Given the description of an element on the screen output the (x, y) to click on. 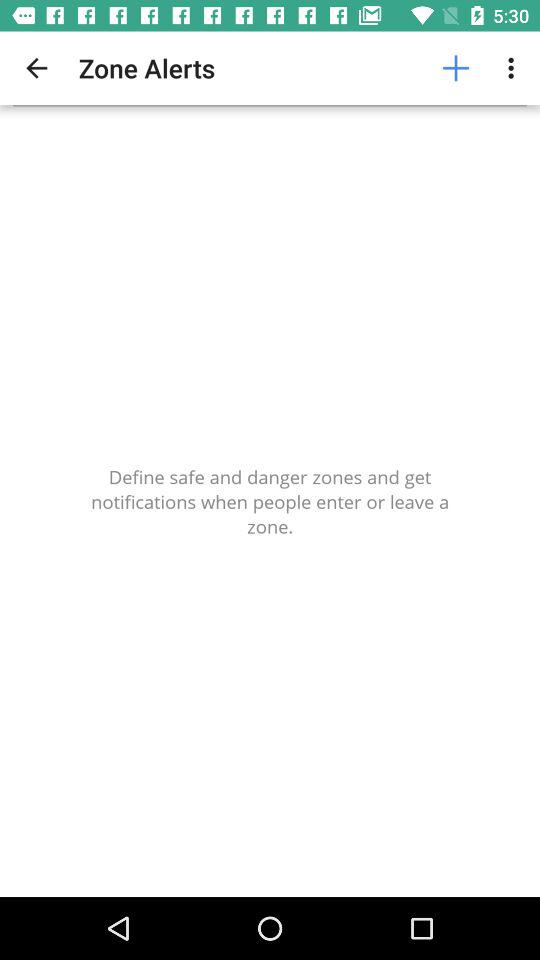
blank page (270, 501)
